Given the description of an element on the screen output the (x, y) to click on. 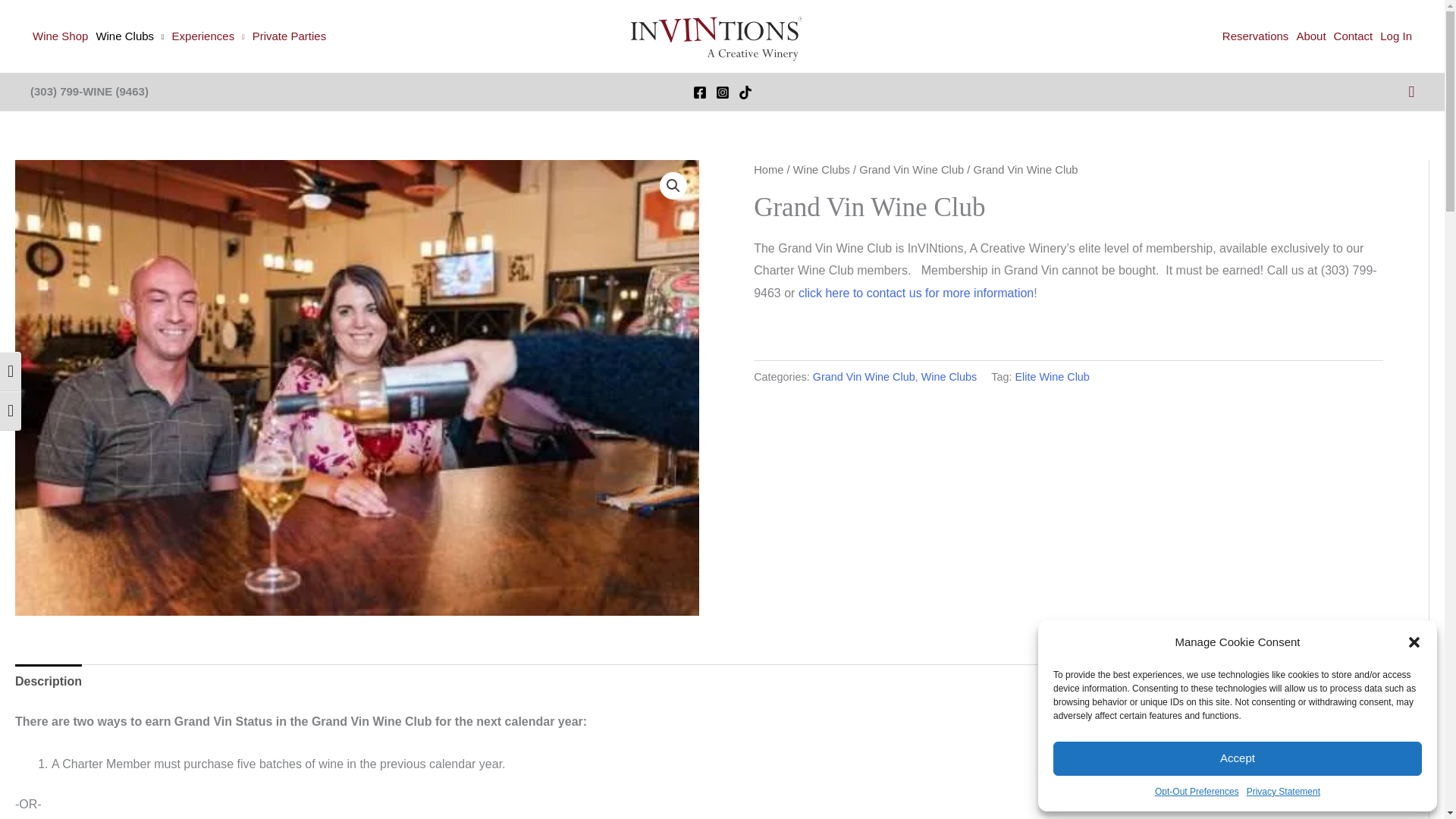
Privacy Statement (1283, 791)
Accept (1237, 758)
Opt-Out Preferences (1196, 791)
Toggle Font size (10, 410)
Private Parties (289, 35)
Search (1410, 91)
Reservations (1255, 35)
Experiences (208, 35)
Toggle High Contrast (10, 371)
Log In (1395, 35)
Wine Clubs (129, 35)
Contact (1353, 35)
About (1310, 35)
Wine Shop (60, 35)
